Given the description of an element on the screen output the (x, y) to click on. 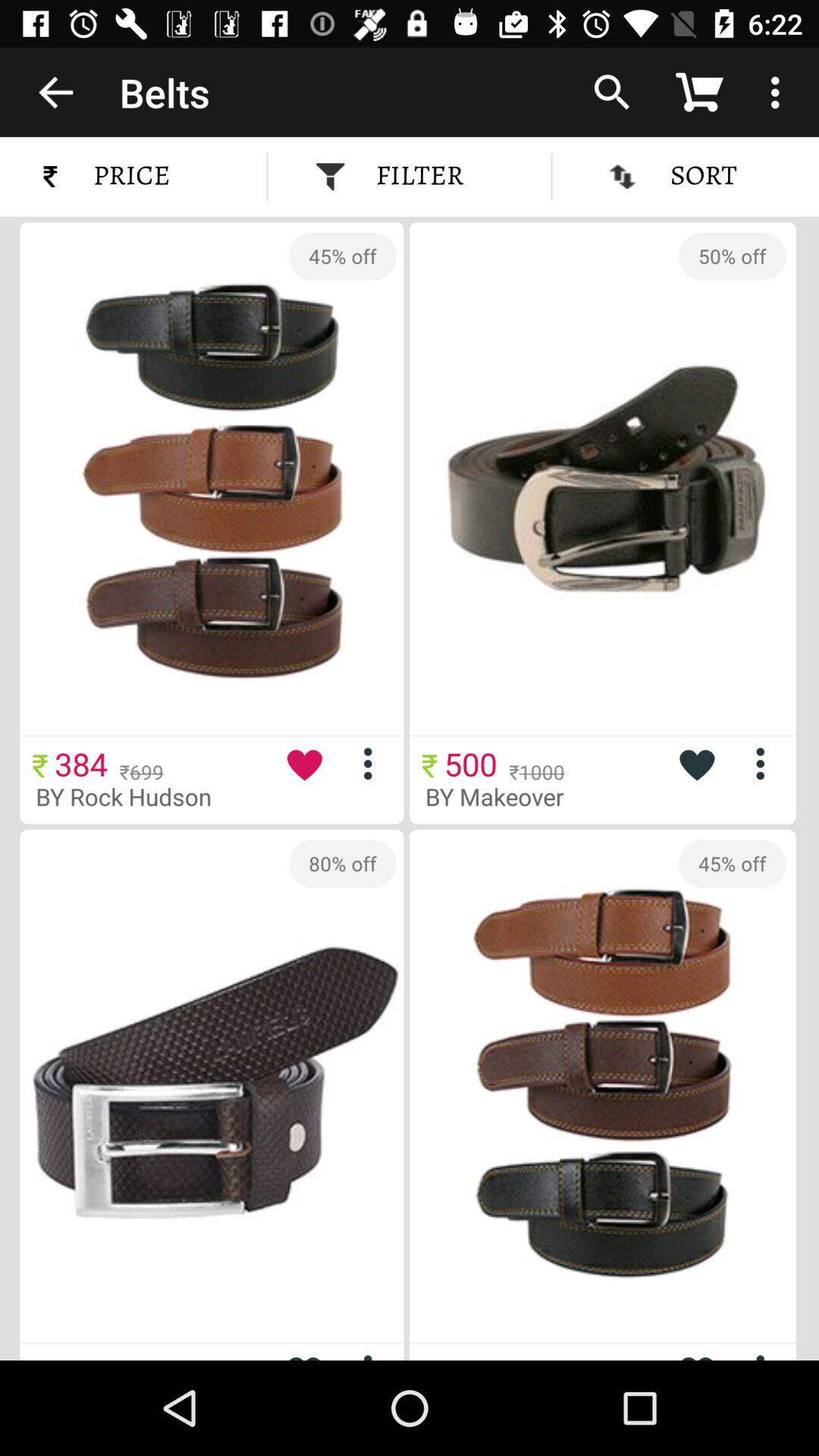
turn on the filter item (409, 176)
